Given the description of an element on the screen output the (x, y) to click on. 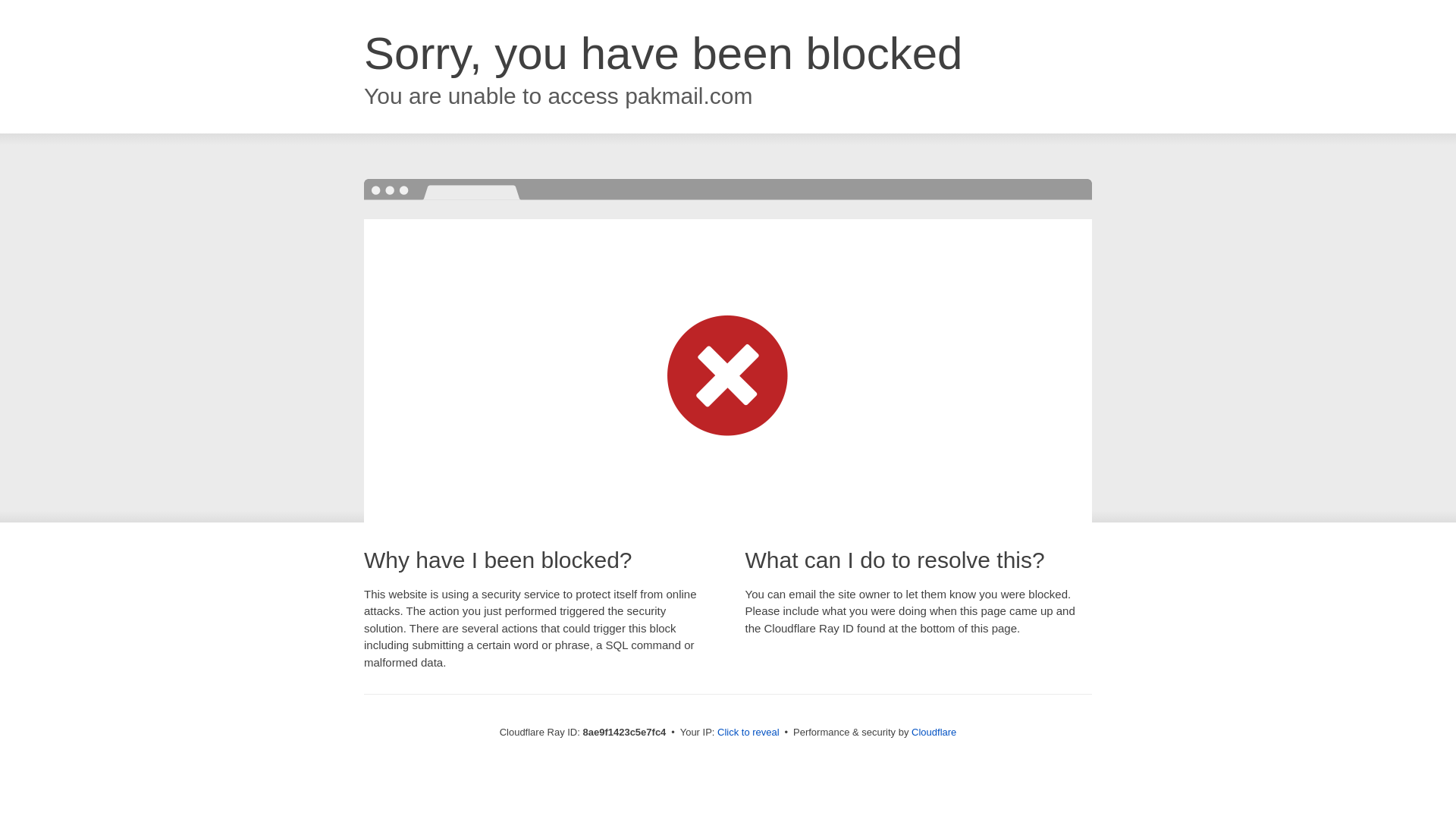
Click to reveal (747, 732)
Cloudflare (933, 731)
